Given the description of an element on the screen output the (x, y) to click on. 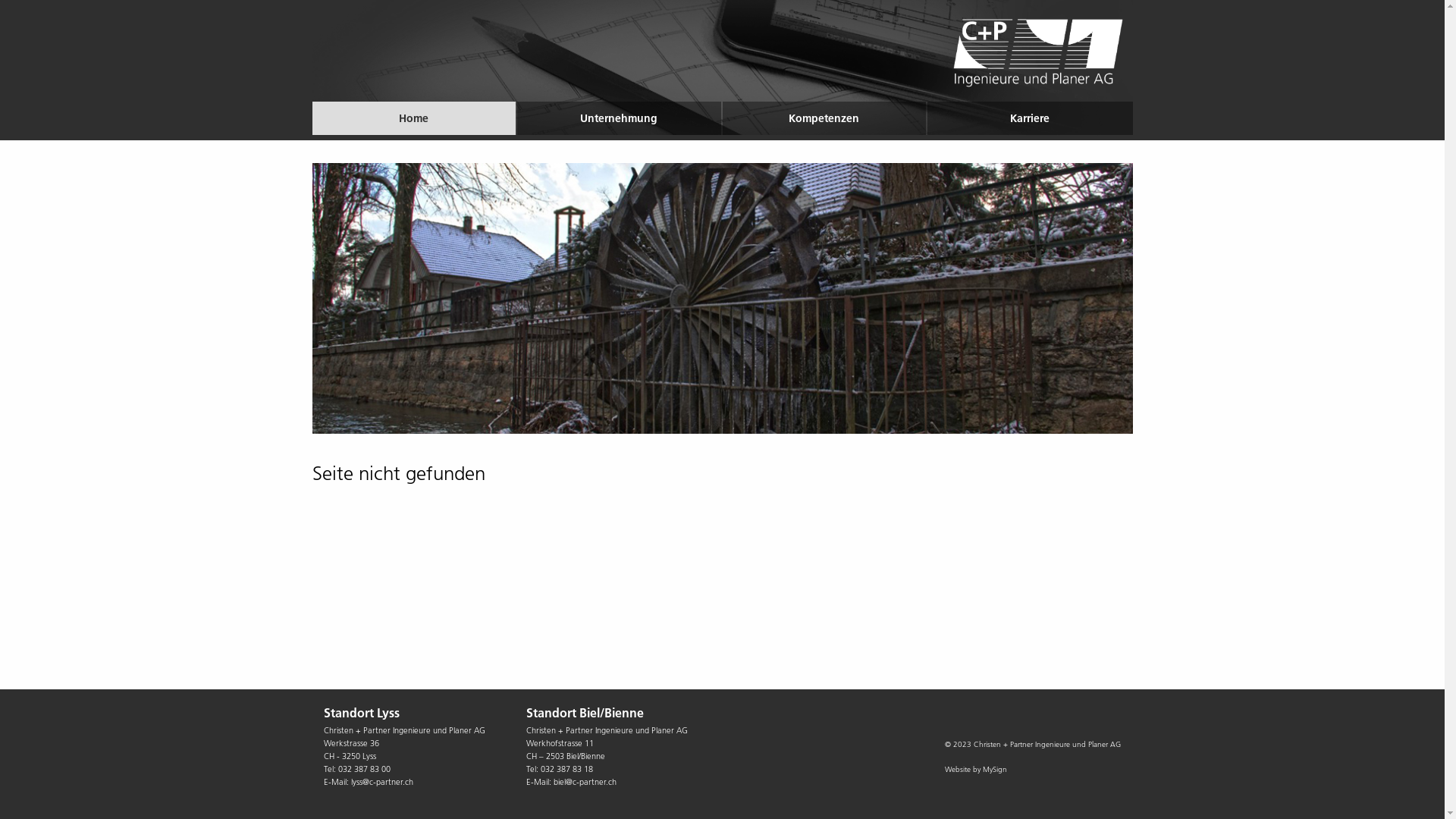
lyss@c-partner.ch Element type: text (381, 781)
Unternehmung Element type: text (619, 117)
Christen + Partner Ingenieure und Planer AG Element type: hover (1037, 52)
Kompetenzen Element type: text (823, 117)
Karriere Element type: text (1029, 117)
biel@c-partner.ch Element type: text (584, 781)
Home Element type: text (414, 117)
Website by MySign Element type: text (975, 769)
